Given the description of an element on the screen output the (x, y) to click on. 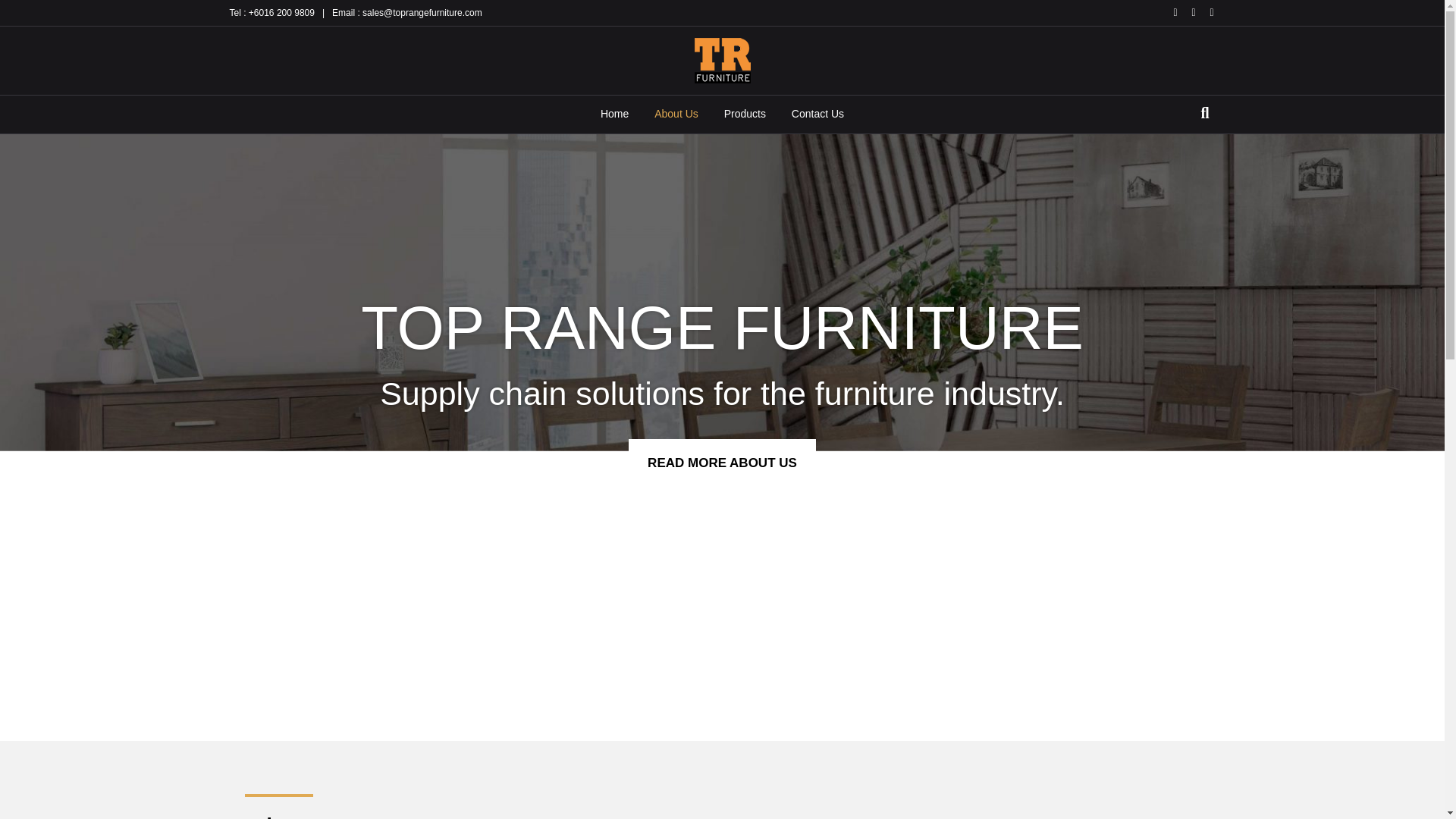
About Us (676, 114)
Google (1203, 11)
READ MORE ABOUT US (721, 462)
Contact Us (818, 114)
Home (614, 114)
Twitter (1185, 11)
Facebook (1167, 11)
Products (745, 114)
